Given the description of an element on the screen output the (x, y) to click on. 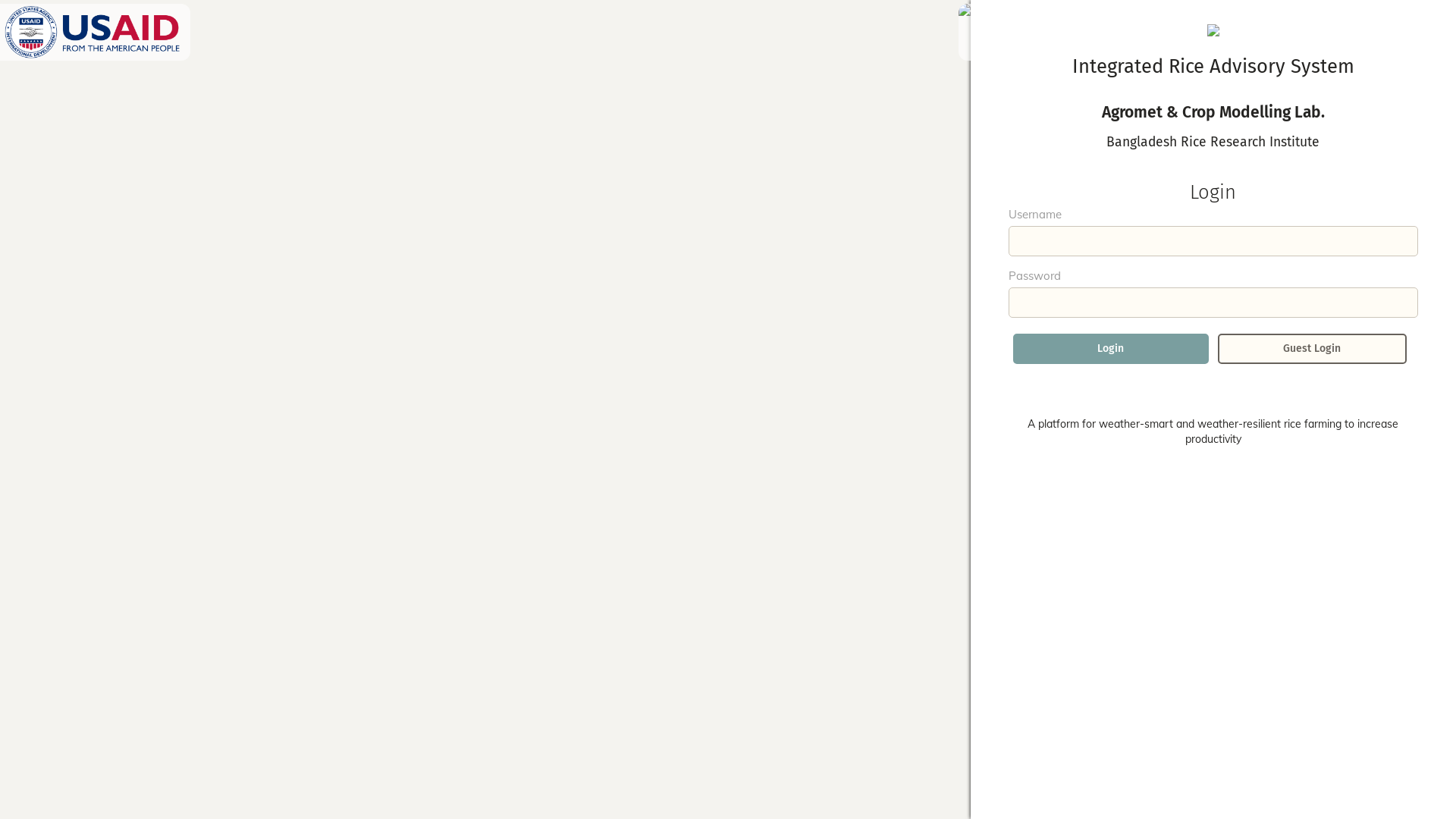
Guest Login Element type: text (1311, 348)
Login Element type: text (1110, 348)
